Given the description of an element on the screen output the (x, y) to click on. 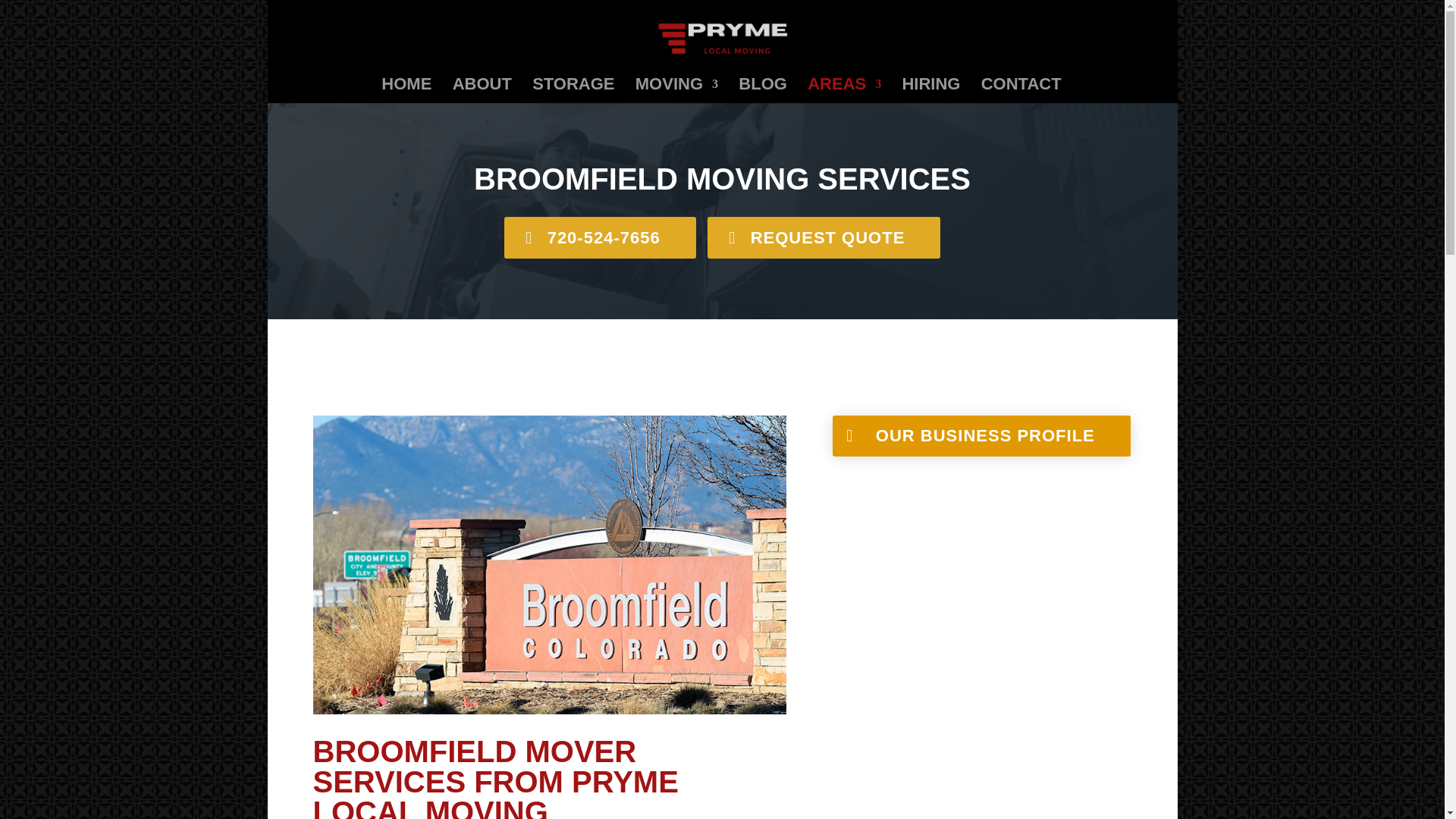
MOVING (675, 90)
HIRING (930, 90)
ABOUT (482, 90)
CONTACT (1021, 90)
STORAGE (573, 90)
BLOG (762, 90)
HOME (405, 90)
AREAS (844, 90)
